Given the description of an element on the screen output the (x, y) to click on. 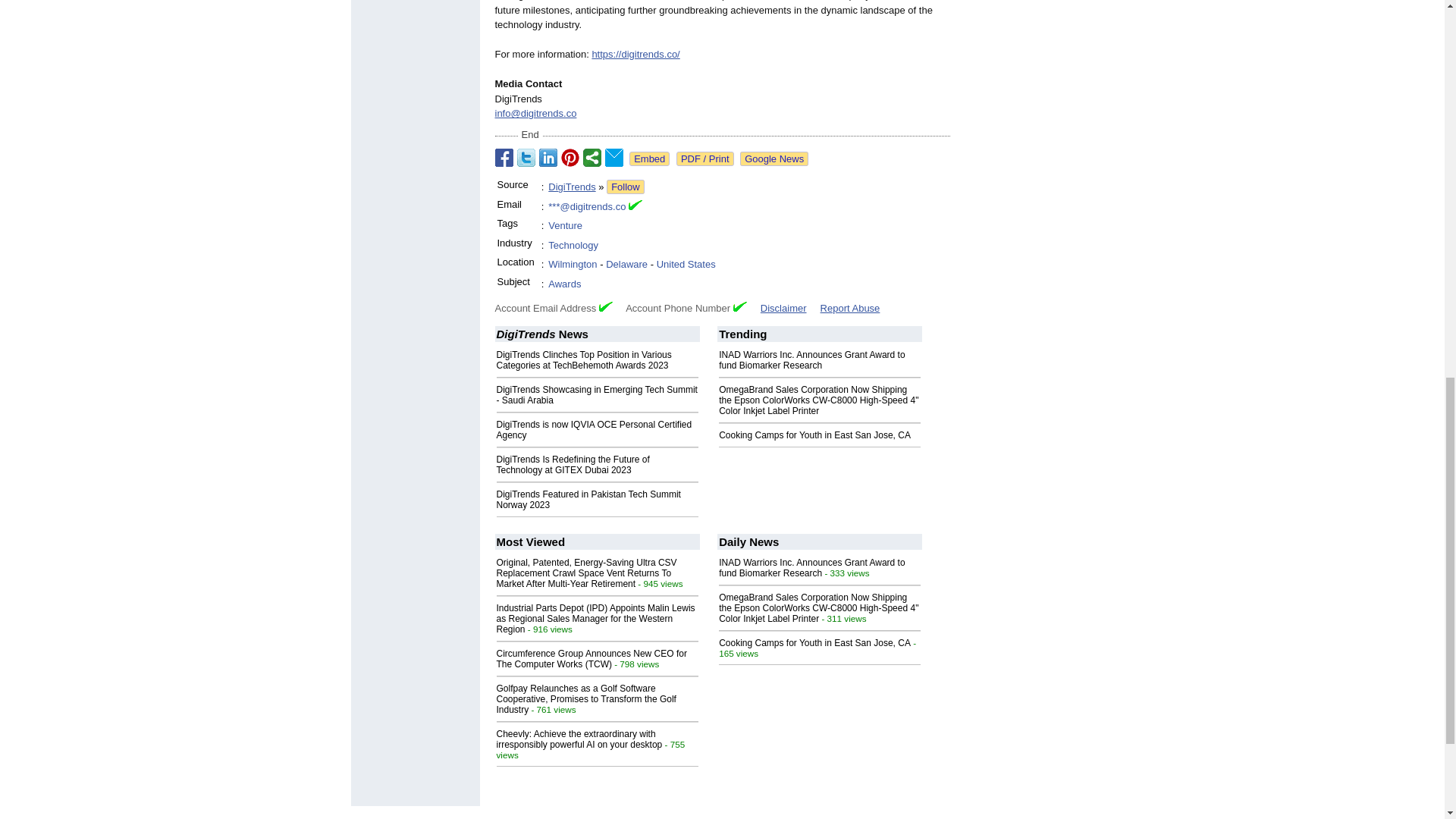
Embed (648, 158)
See or print the PDF version! (705, 158)
Email to a Friend (614, 157)
Share on Pinterest (569, 157)
Verified (739, 307)
Email Verified (635, 206)
Share on LinkedIn (547, 157)
Verified (605, 307)
Embed this press release in your website! (648, 158)
Share on Facebook (503, 157)
Share on StumbleUpon, Digg, etc (590, 157)
Share on Twitter (525, 157)
